Given the description of an element on the screen output the (x, y) to click on. 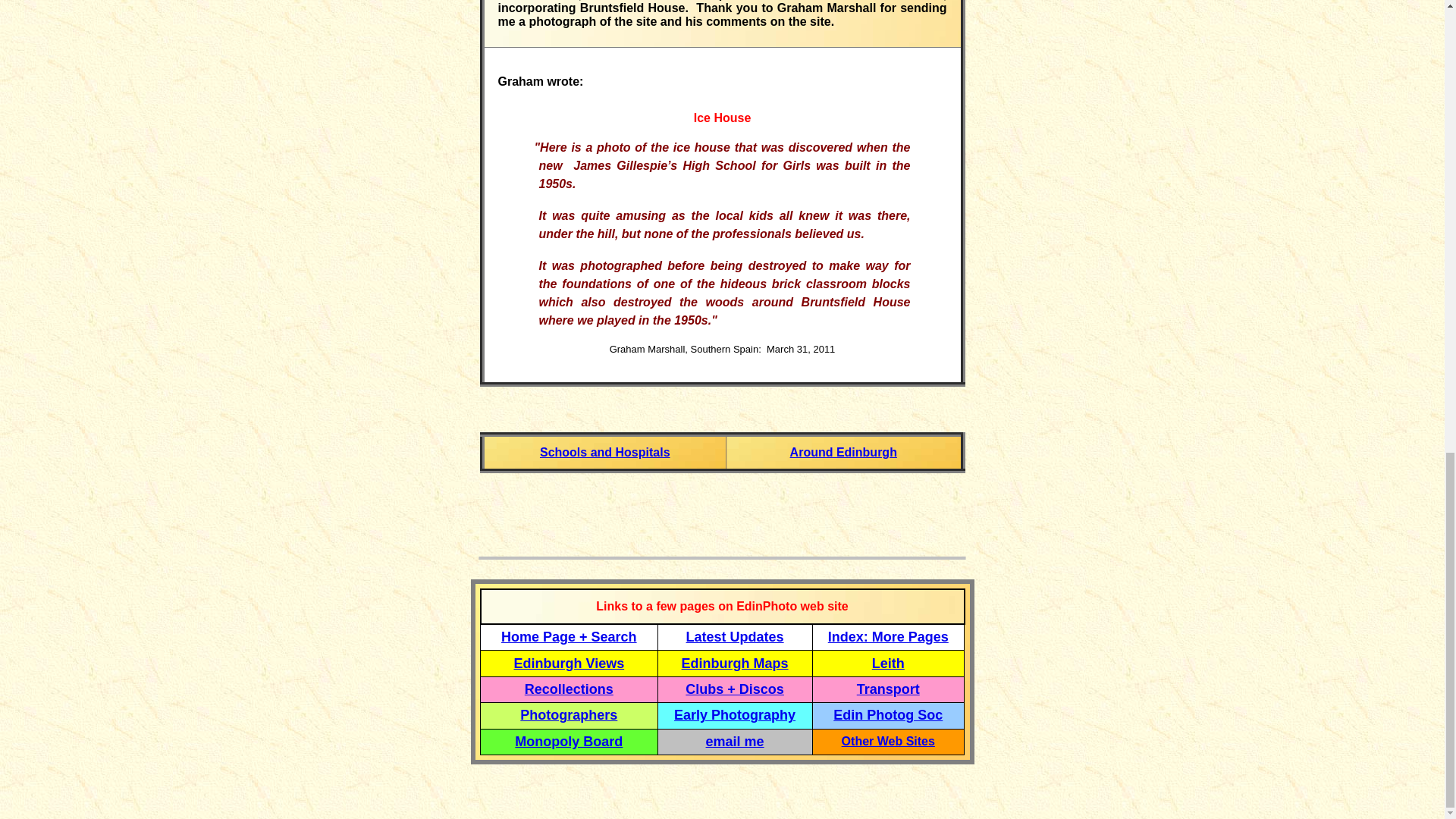
Edinburgh Views (568, 663)
Schools and Hospitals (604, 451)
Latest Updates (734, 636)
Leith (888, 663)
Edinburgh Maps (735, 663)
Edin Photog Soc (887, 714)
Index: More Pages (888, 636)
email me (735, 741)
Photographers (568, 714)
Recollections (568, 688)
Monopoly Board (569, 741)
Early Photography (734, 714)
Around Edinburgh (843, 451)
Transport (888, 688)
